Given the description of an element on the screen output the (x, y) to click on. 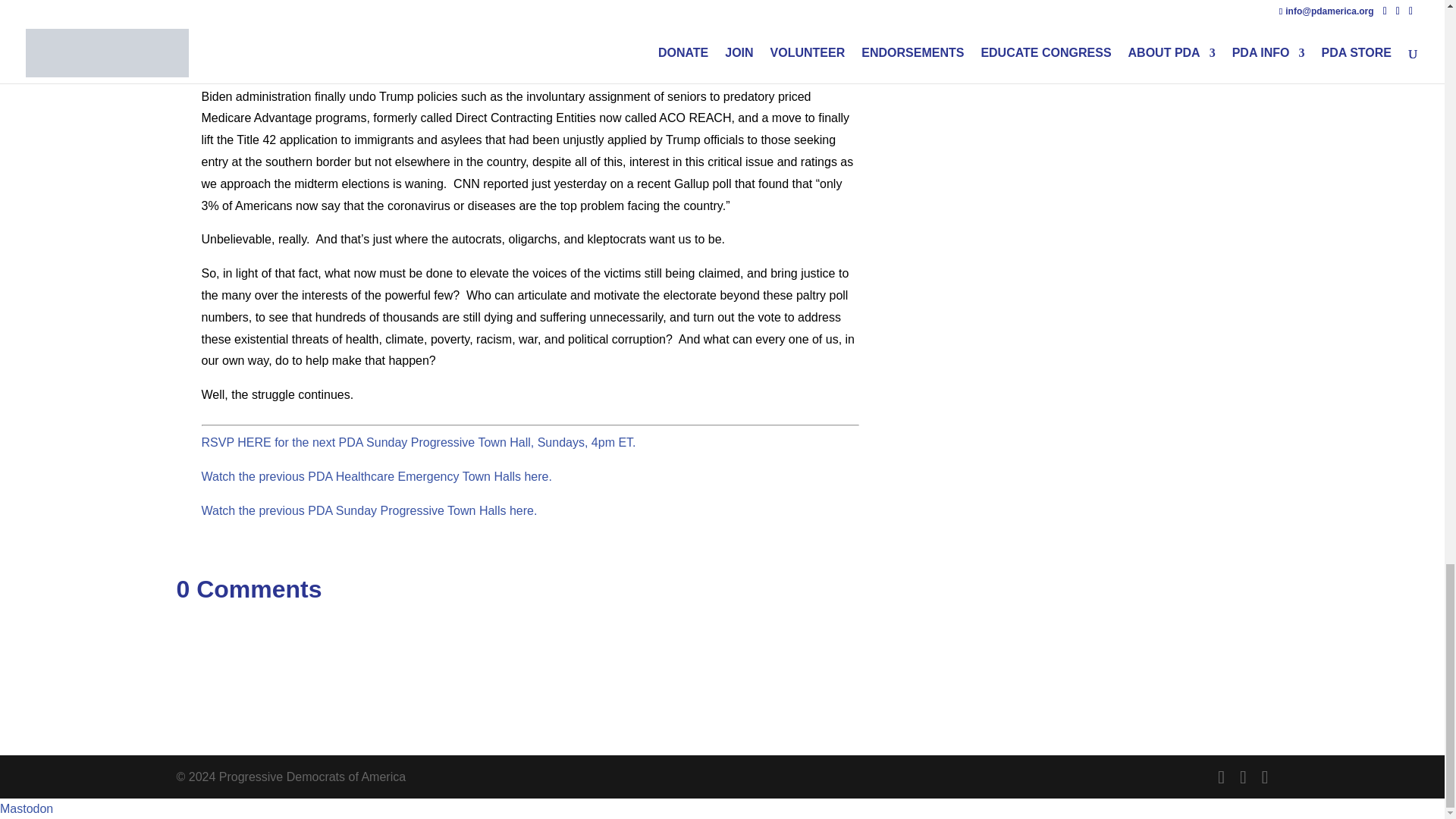
Watch the previous PDA Healthcare Emergency Town Halls here. (376, 476)
Watch the previous PDA Sunday Progressive Town Halls here. (369, 510)
